Given the description of an element on the screen output the (x, y) to click on. 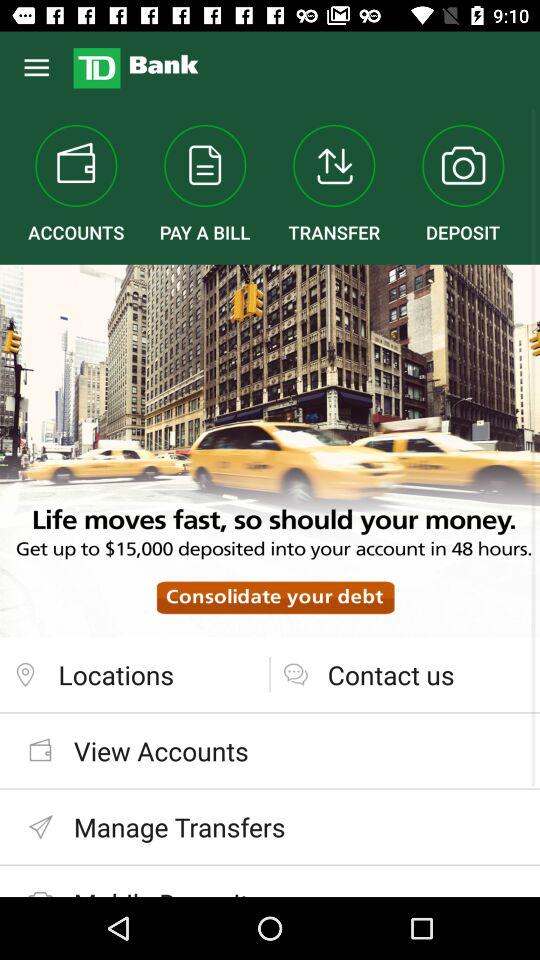
swipe until the locations (134, 674)
